Given the description of an element on the screen output the (x, y) to click on. 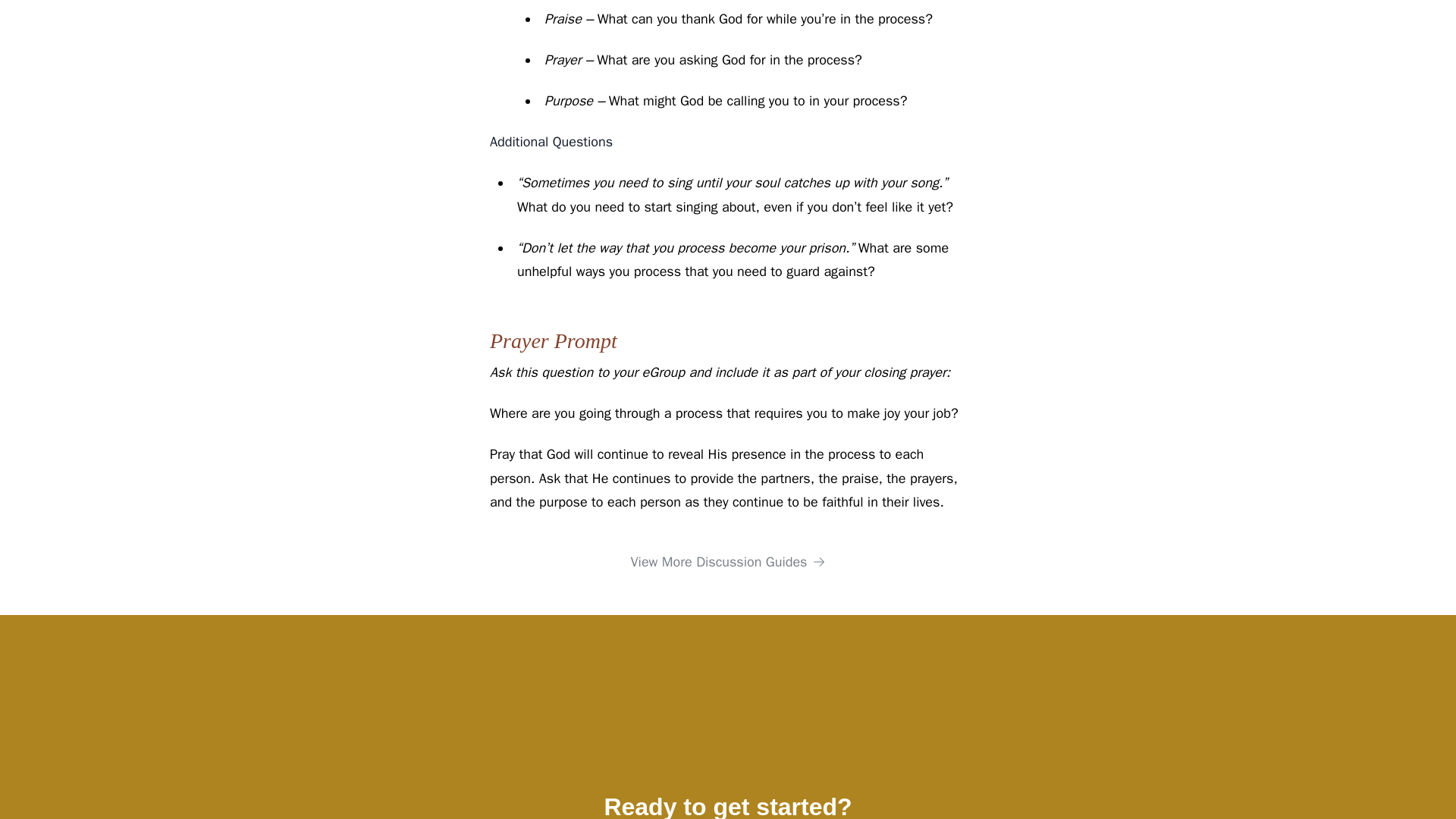
View More Discussion Guides (727, 561)
